Given the description of an element on the screen output the (x, y) to click on. 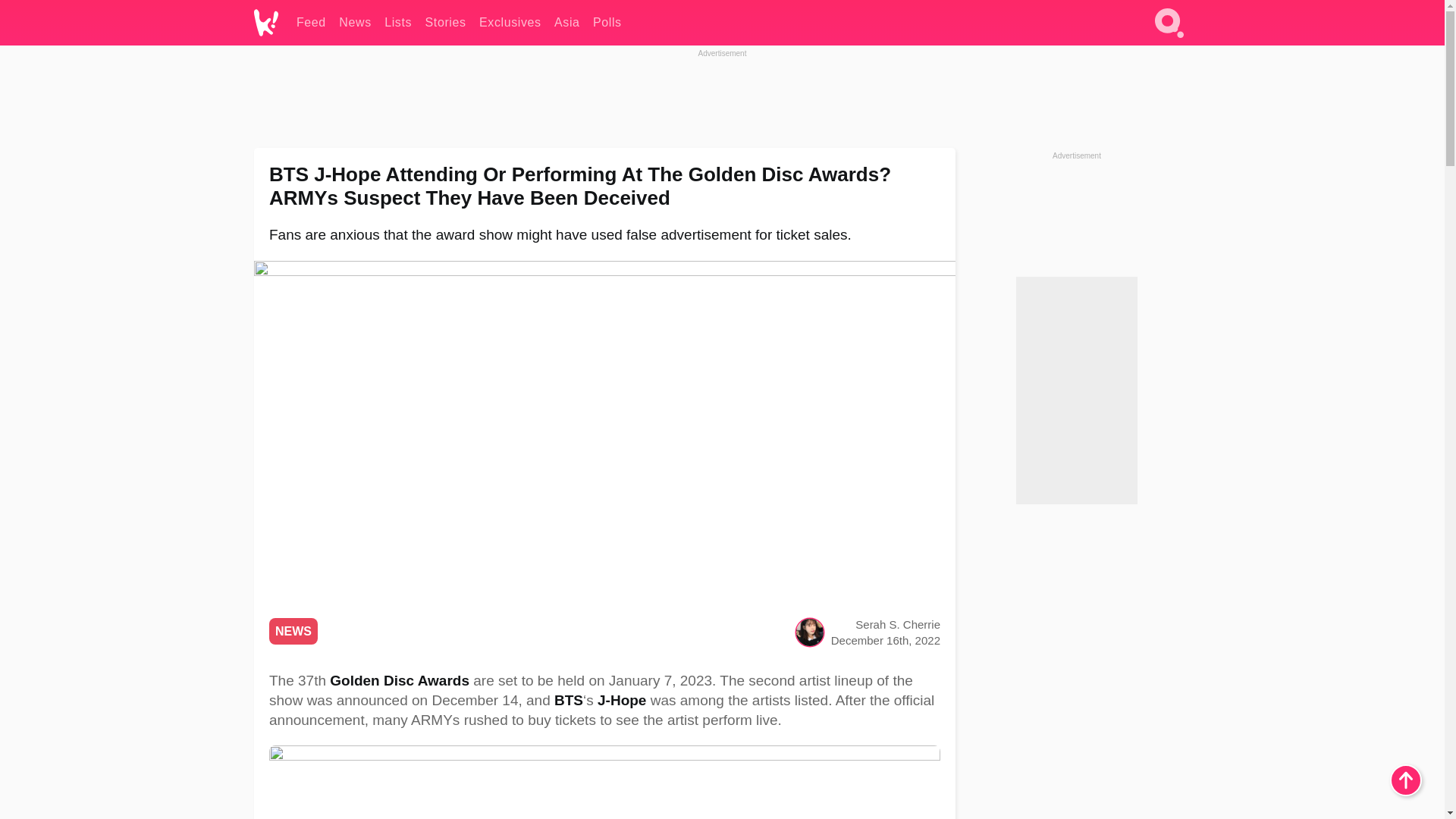
Serah S. Cherrie (898, 624)
NEWS (293, 631)
Stories (445, 22)
Exclusives (510, 22)
